Given the description of an element on the screen output the (x, y) to click on. 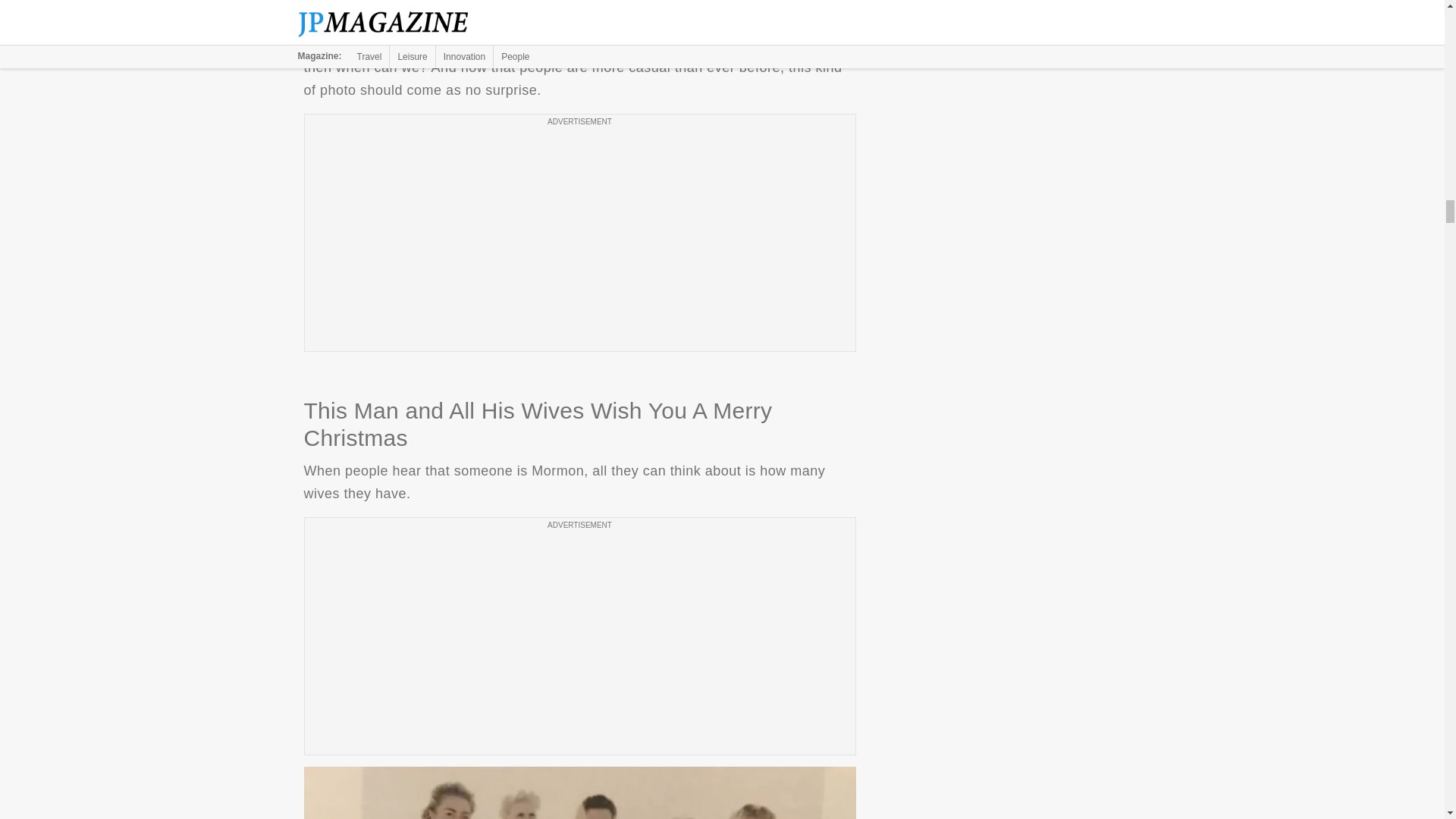
This Man and All His Wives Wish You A Merry Christmas (579, 792)
